Given the description of an element on the screen output the (x, y) to click on. 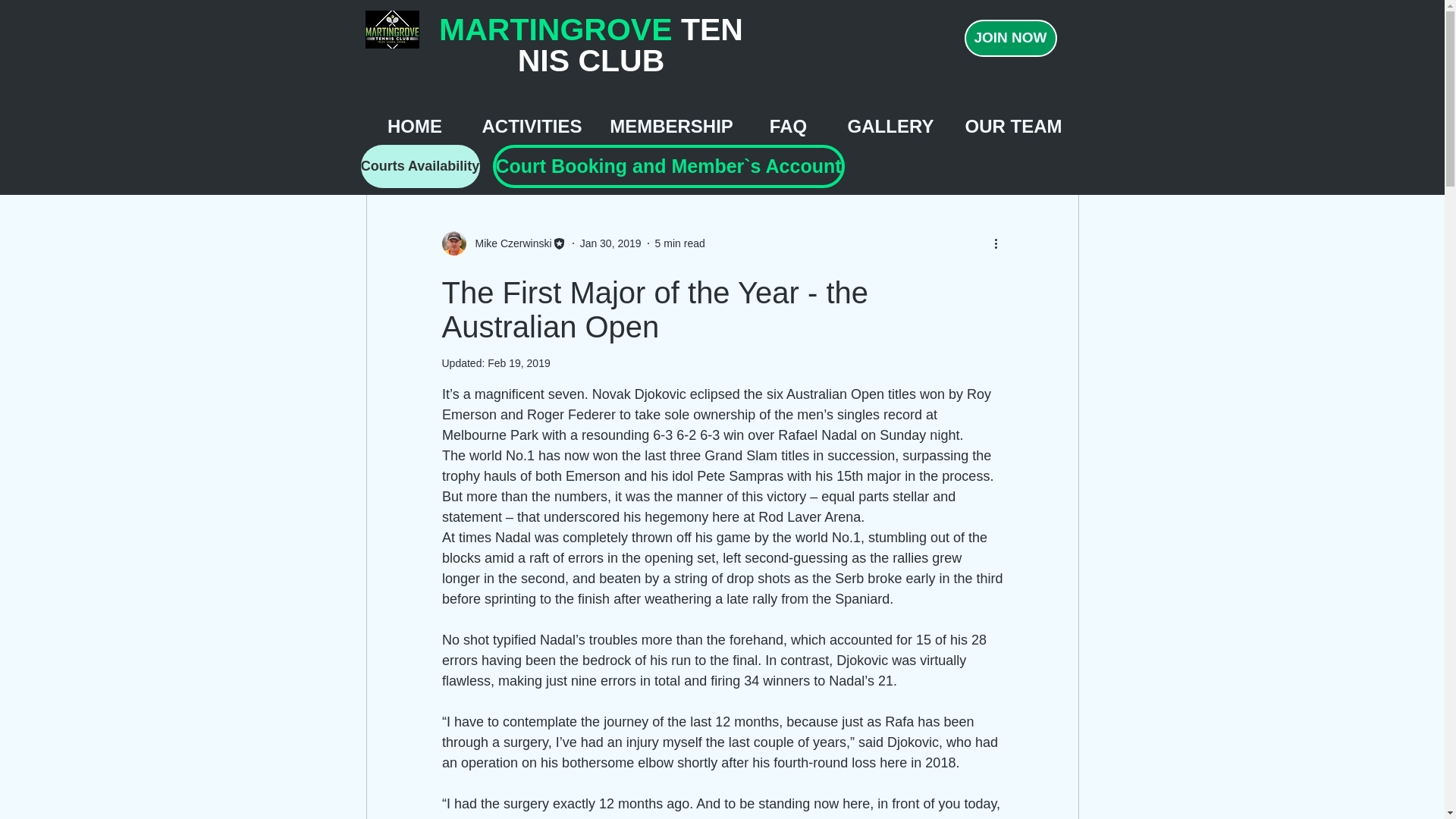
Feb 19, 2019 (518, 363)
JOIN NOW (1010, 37)
Jan 30, 2019 (610, 242)
5 min read (679, 242)
Courts Availability (420, 166)
Mike Czerwinski (508, 242)
MARTINGROVE TENNIS CLUB (590, 44)
OUR TEAM (1013, 124)
HOME (414, 124)
FAQ (788, 124)
